Given the description of an element on the screen output the (x, y) to click on. 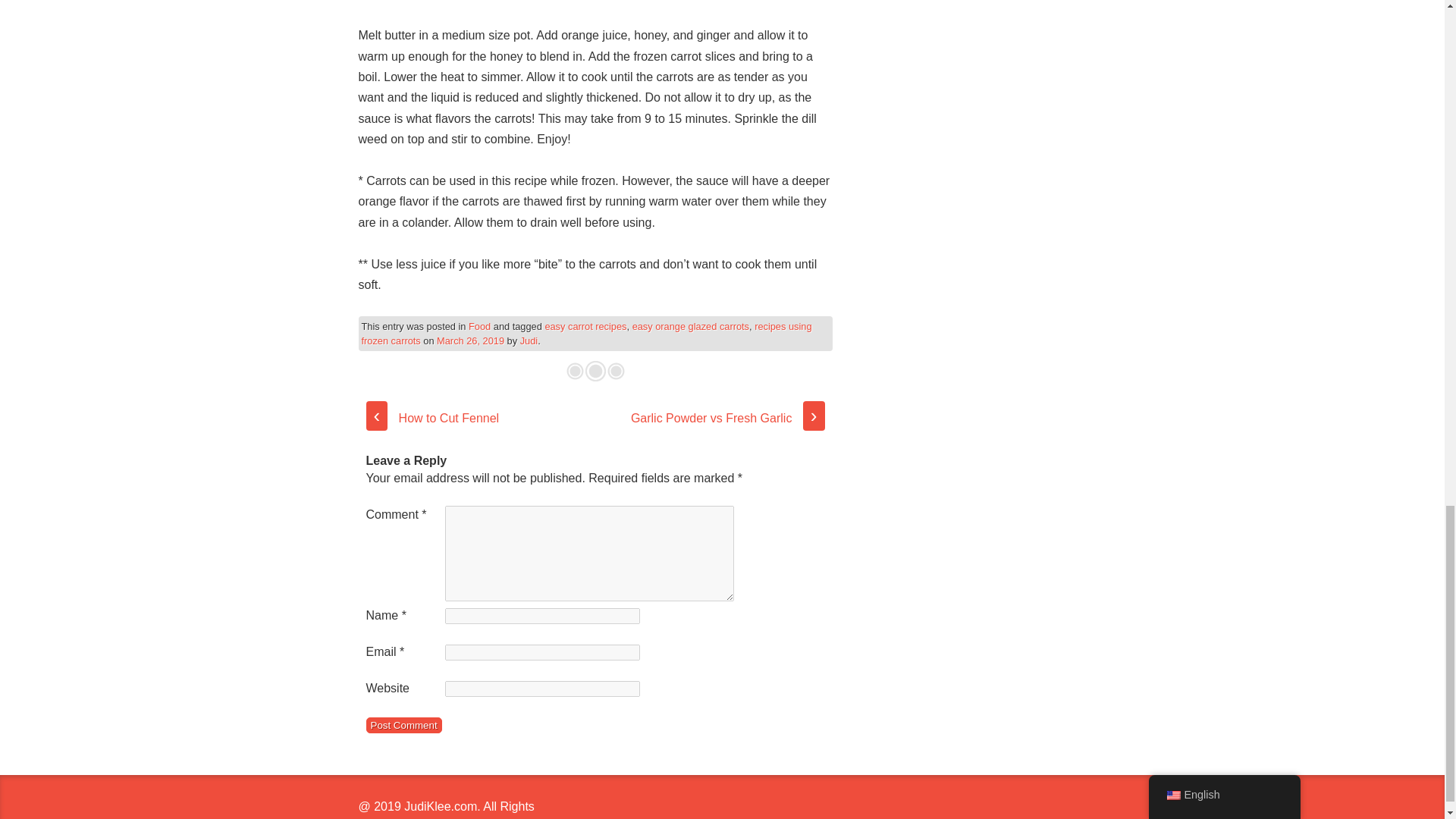
Post Comment (403, 725)
March 26, 2019 (469, 340)
7:01 am (469, 340)
Food (479, 326)
Post Comment (403, 725)
recipes using frozen carrots (585, 333)
easy orange glazed carrots (690, 326)
View all posts by Judi (528, 340)
Judi (528, 340)
easy carrot recipes (585, 326)
